Given the description of an element on the screen output the (x, y) to click on. 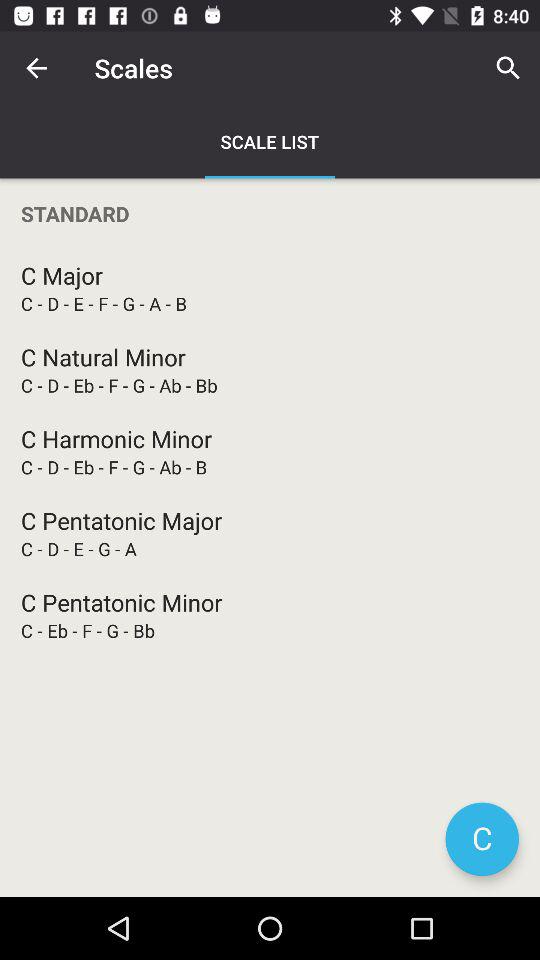
open the icon above standard (36, 68)
